Given the description of an element on the screen output the (x, y) to click on. 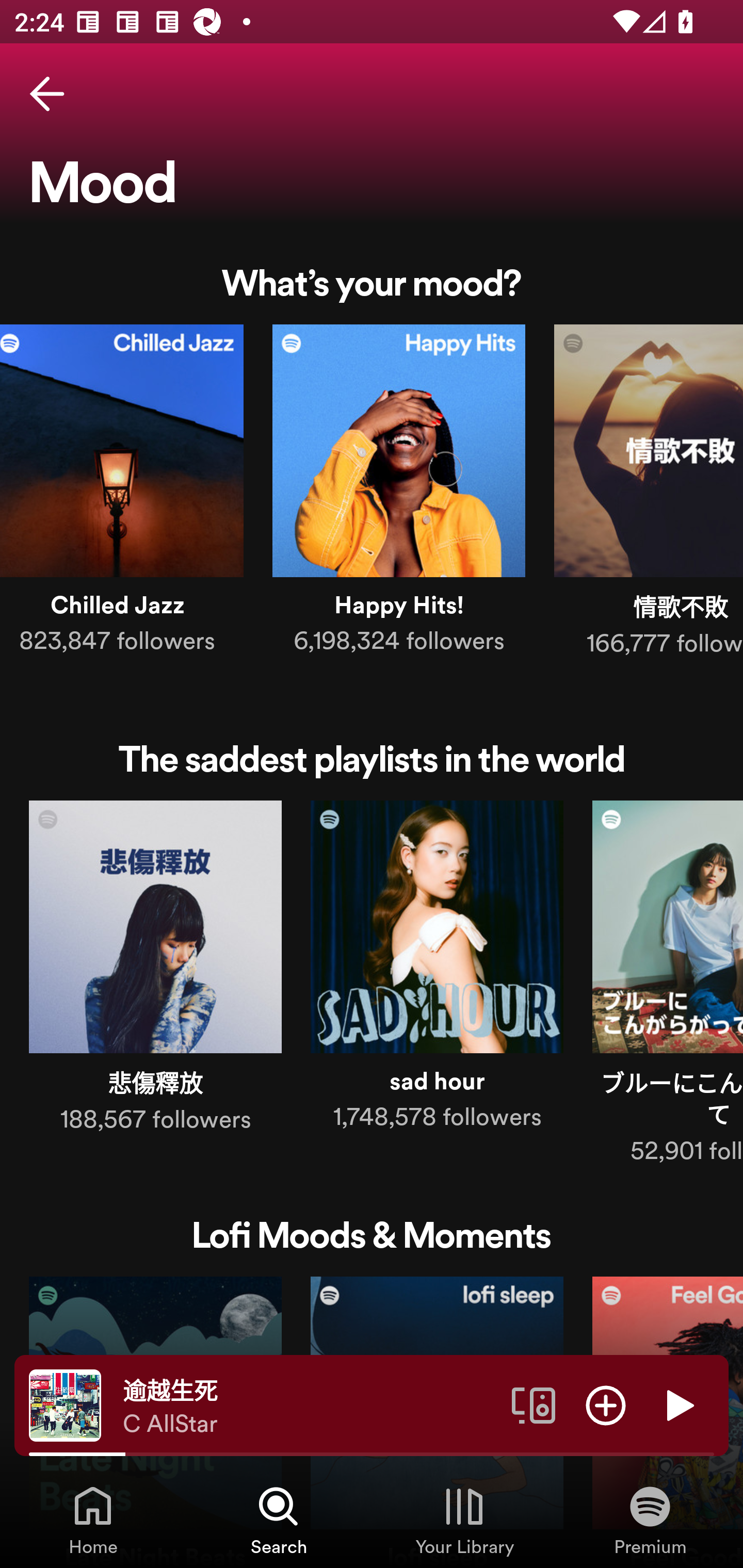
Back (46, 93)
情歌不敗
166,777 followers 情歌不敗 166,777 followers (648, 494)
悲傷釋放
188,567 followers 悲傷釋放 188,567 followers (154, 971)
逾越生死 C AllStar (309, 1405)
The cover art of the currently playing track (64, 1404)
Connect to a device. Opens the devices menu (533, 1404)
Add item (605, 1404)
Play (677, 1404)
Home, Tab 1 of 4 Home Home (92, 1519)
Search, Tab 2 of 4 Search Search (278, 1519)
Your Library, Tab 3 of 4 Your Library Your Library (464, 1519)
Premium, Tab 4 of 4 Premium Premium (650, 1519)
